Given the description of an element on the screen output the (x, y) to click on. 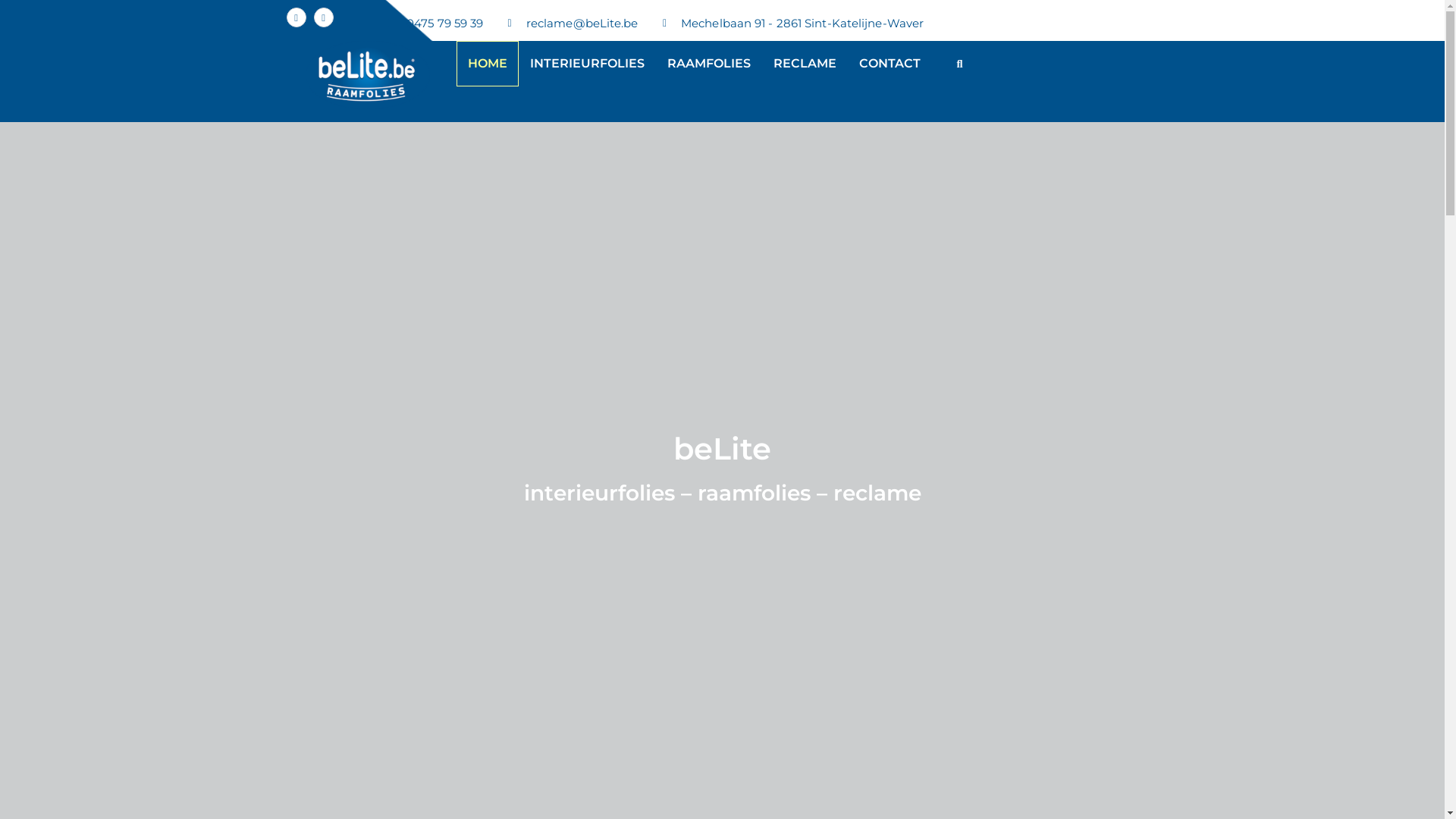
HOME Element type: text (487, 63)
INTERIEURFOLIES Element type: text (586, 63)
RAAMFOLIES Element type: text (708, 63)
0475 79 59 39 Element type: text (431, 23)
reclame@beLite.be Element type: text (567, 23)
RECLAME Element type: text (804, 63)
CONTACT Element type: text (889, 63)
